Given the description of an element on the screen output the (x, y) to click on. 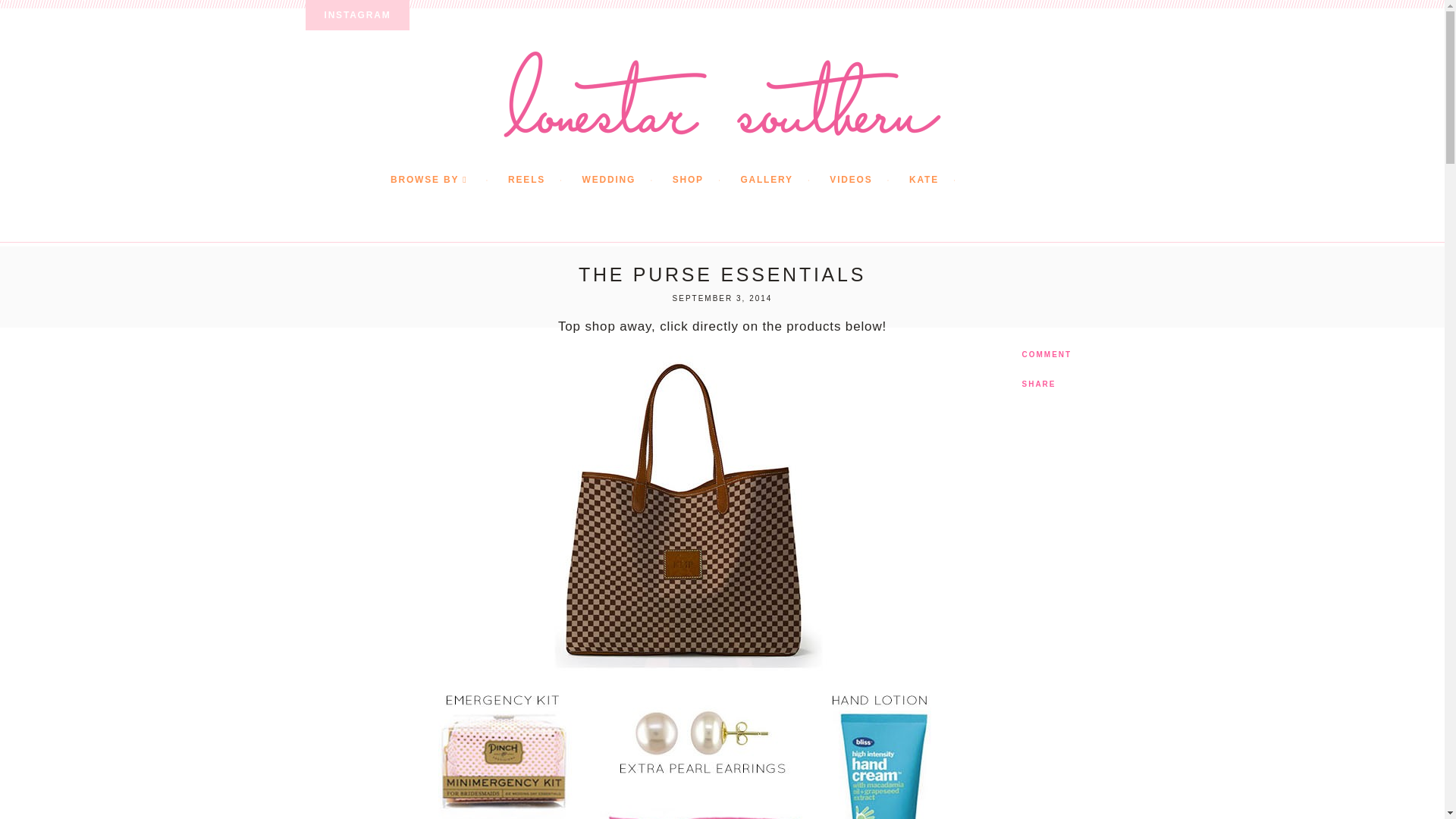
KATE (939, 179)
REELS (543, 179)
INSTAGRAM (356, 15)
